Given the description of an element on the screen output the (x, y) to click on. 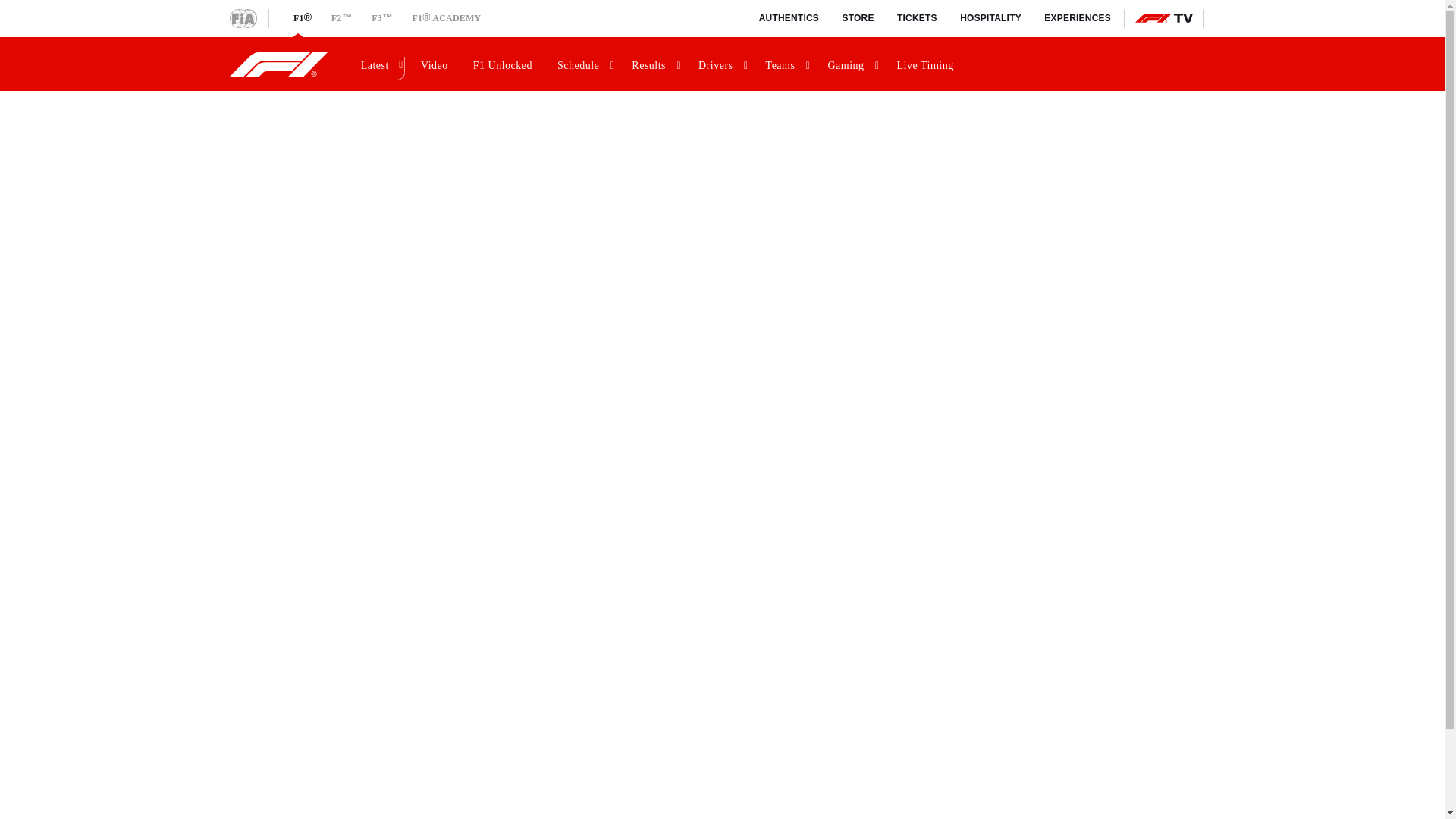
Latest (380, 63)
Video (436, 63)
Results (654, 63)
Drivers (721, 63)
Schedule (584, 63)
F1 Unlocked (505, 63)
